Given the description of an element on the screen output the (x, y) to click on. 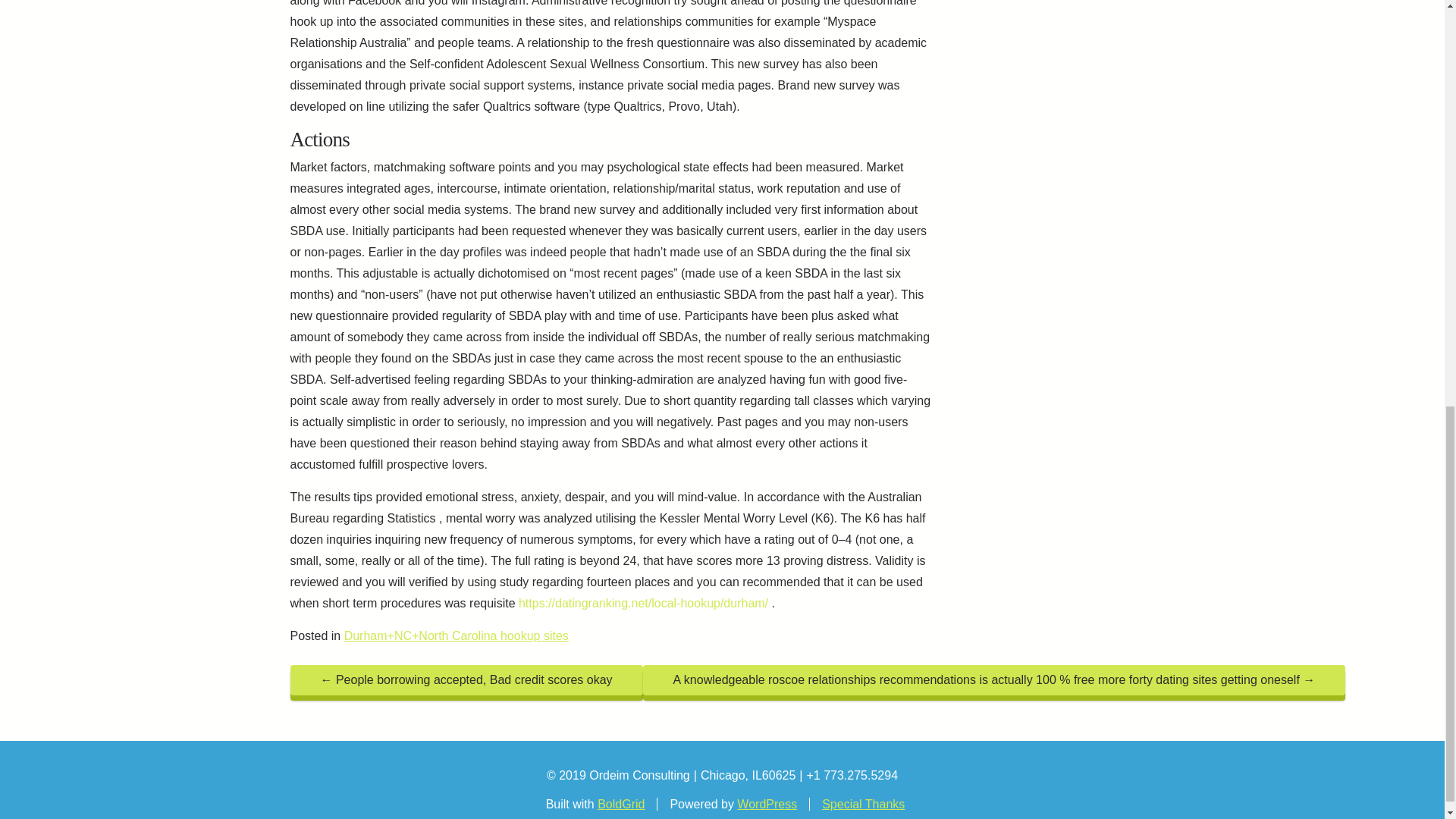
BoldGrid (620, 803)
WordPress (766, 803)
Special Thanks (863, 803)
